Given the description of an element on the screen output the (x, y) to click on. 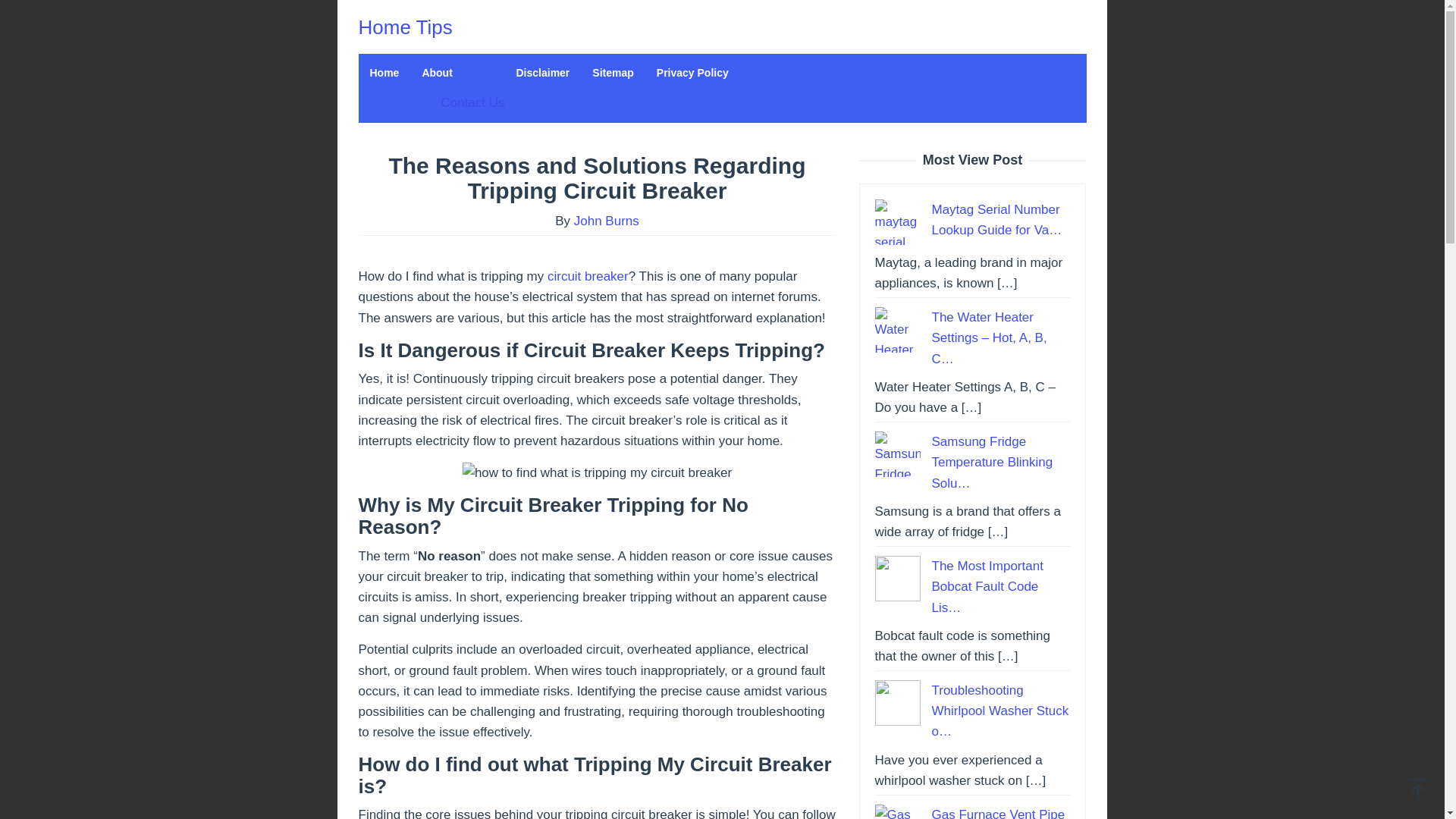
About (456, 72)
Contact Us (472, 102)
Home (384, 72)
Permalink to: John Burns (606, 220)
Disclaimer (542, 72)
Sitemap (612, 72)
Home Tips (404, 26)
circuit breaker (587, 276)
John Burns (606, 220)
Home Tips (404, 26)
Privacy Policy (692, 72)
